Given the description of an element on the screen output the (x, y) to click on. 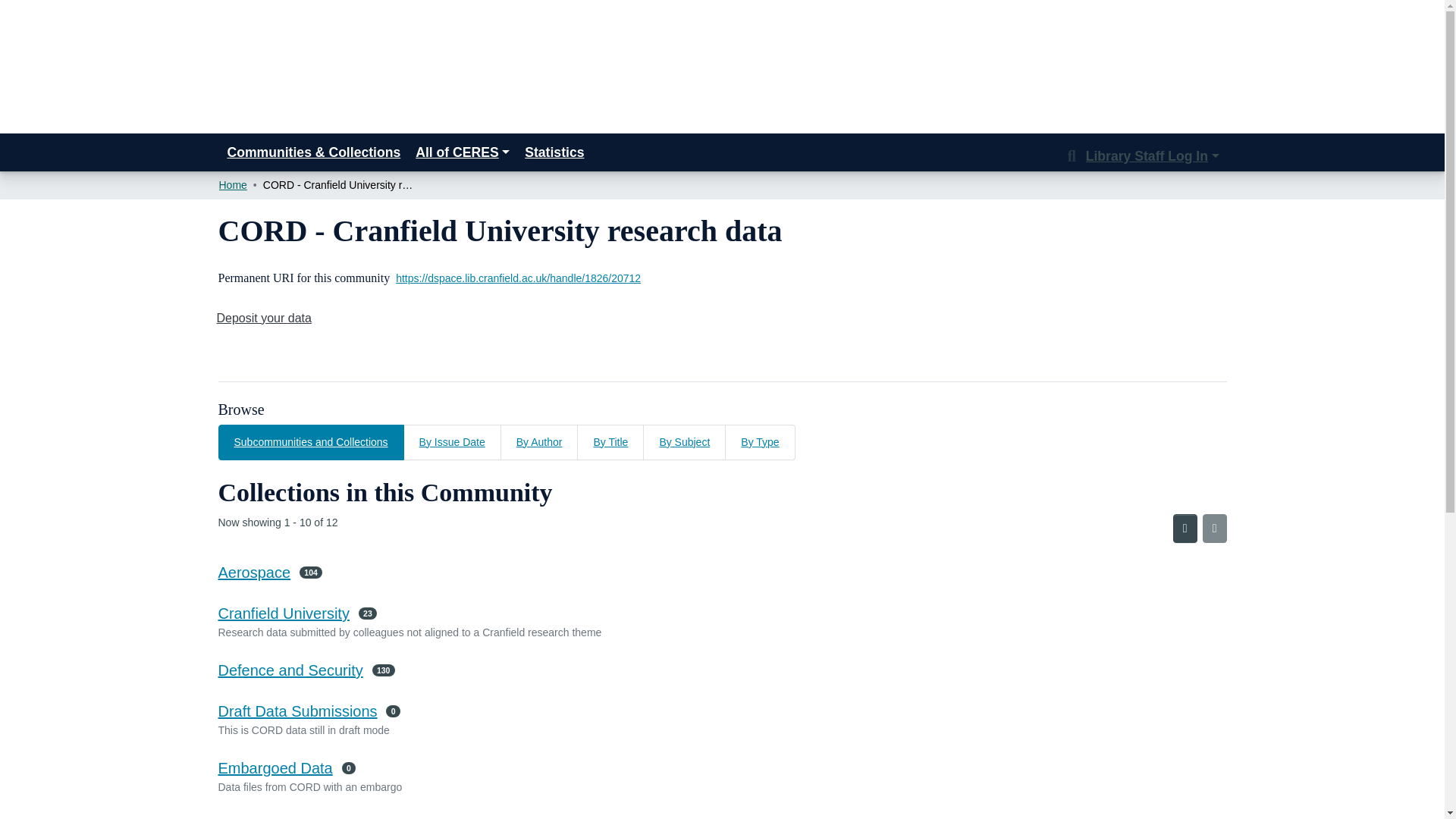
Statistics (553, 152)
By Subject (684, 442)
Aerospace (254, 572)
Cranfield University (283, 612)
Embargoed Data (275, 767)
Subcommunities and Collections (311, 442)
CERES (274, 60)
Defence and Security (290, 670)
All of CERES (462, 152)
Draft Data Submissions (297, 711)
